Given the description of an element on the screen output the (x, y) to click on. 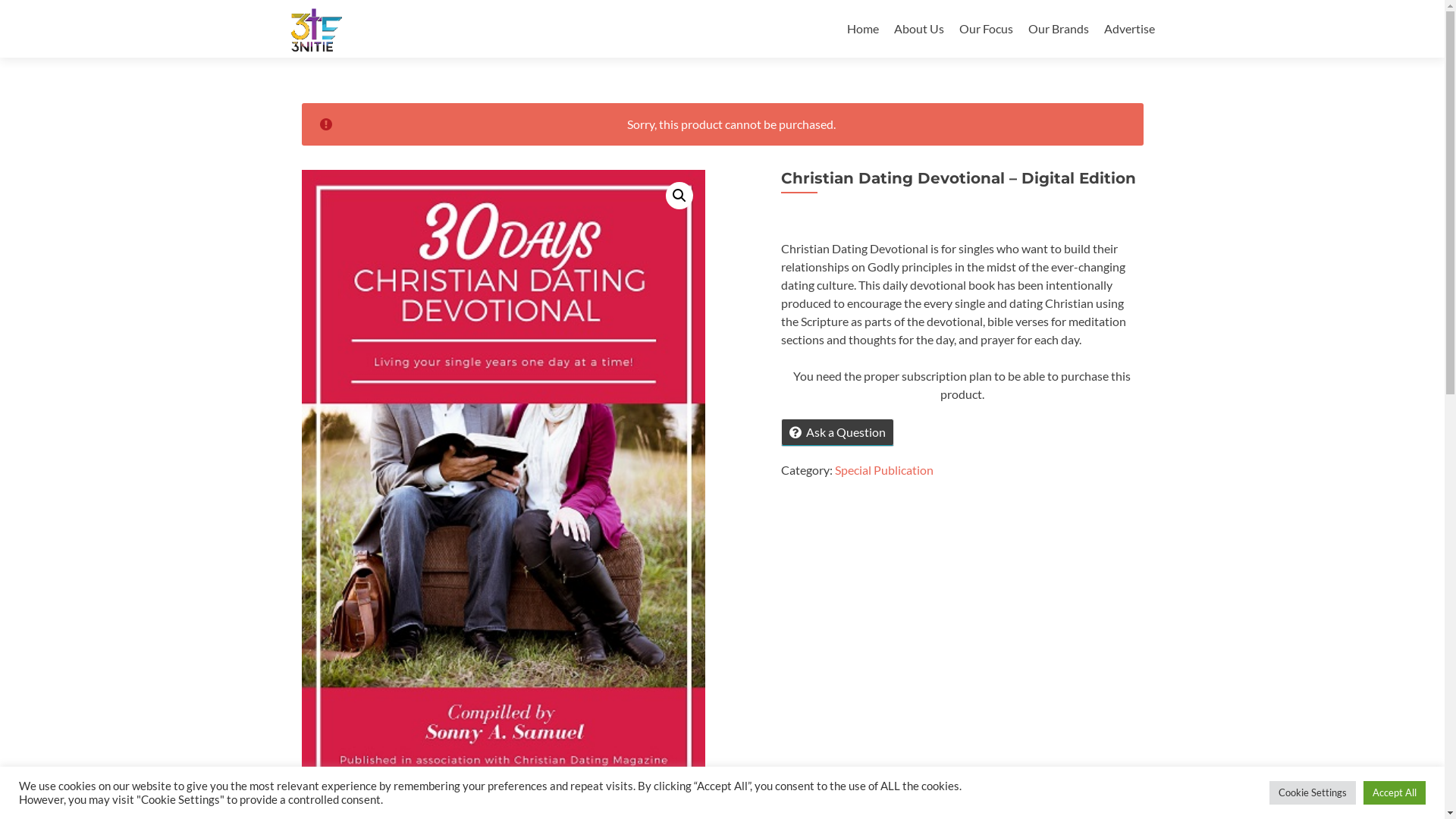
About Us Element type: text (918, 28)
Advertise Element type: text (1129, 28)
Special Publication Element type: text (883, 469)
Accept All Element type: text (1394, 792)
Home Element type: text (862, 28)
  Ask a Question Element type: text (837, 431)
Our Brands Element type: text (1058, 28)
Cookie Settings Element type: text (1312, 792)
Our Focus Element type: text (985, 28)
30days CDM Dev book medium Element type: hover (503, 491)
